Given the description of an element on the screen output the (x, y) to click on. 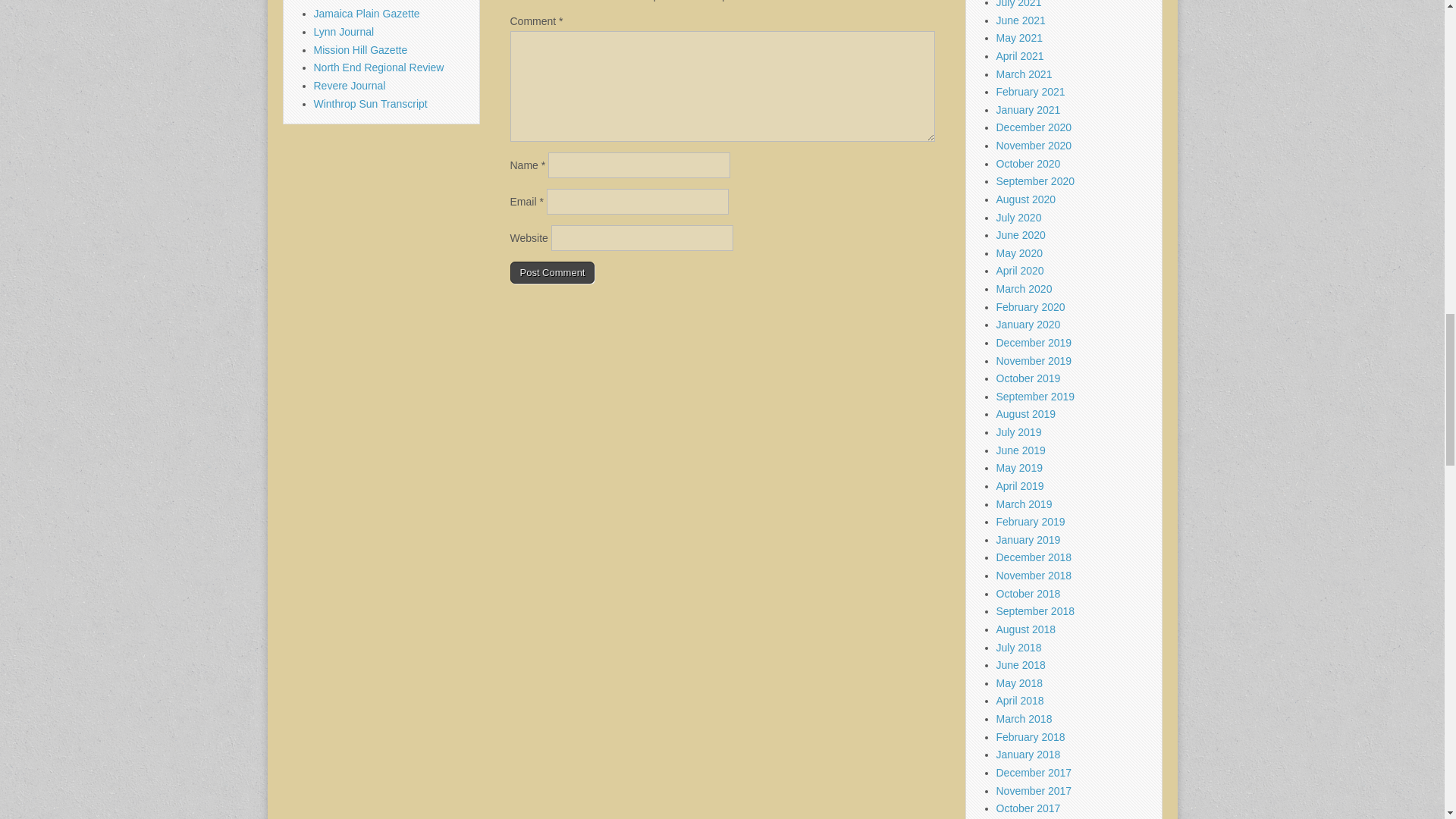
Post Comment (551, 272)
Post Comment (551, 272)
East Boston Times Free Press (385, 1)
Jamaica Plain Gazette (367, 13)
Lynn Journal (344, 31)
